Given the description of an element on the screen output the (x, y) to click on. 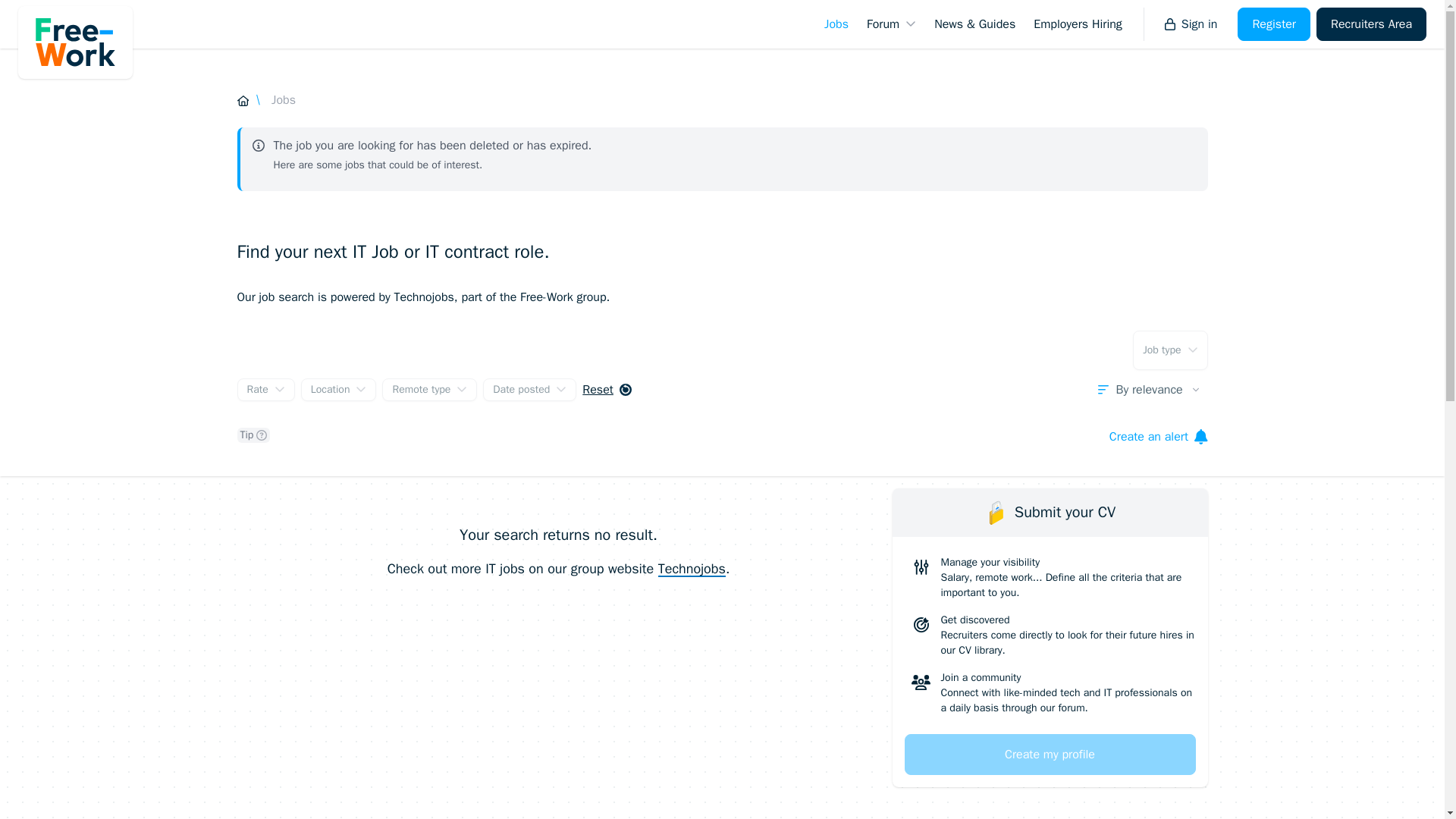
Employers Hiring (1078, 24)
Location (339, 389)
Date posted (529, 389)
Sign in (1190, 23)
Remote type (429, 389)
Reset (606, 389)
Create an alert (1158, 436)
Job type (1169, 350)
Recruiters Area (1371, 23)
Create my profile (1049, 753)
Forum (890, 24)
Rate (264, 389)
Register (1273, 23)
Technojobs (691, 568)
Jobs (721, 99)
